Given the description of an element on the screen output the (x, y) to click on. 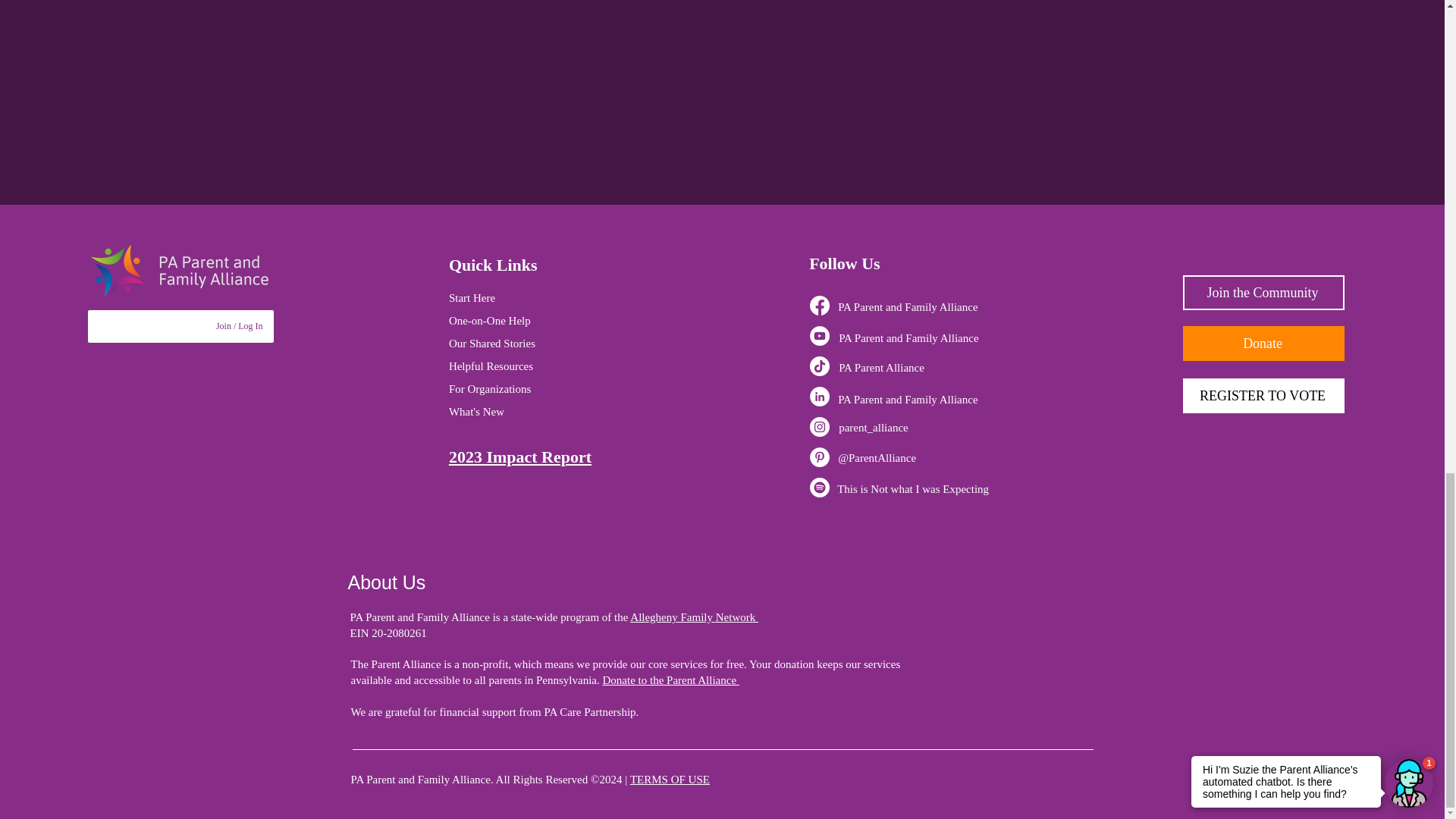
PA Parent and Family Alliance (908, 337)
Start Here (471, 297)
Join the Community (1262, 292)
Our Shared Stories (491, 343)
Helpful Resources (490, 366)
PA Parent Alliance (881, 367)
PA Parent and Family Alliance (907, 399)
2023 Impact Report (519, 456)
REGISTER TO VOTE (1262, 395)
Donate (1262, 343)
PA Parent and Family Alliance (907, 306)
For Organizations (489, 388)
One-on-One Help (489, 320)
What's New (475, 411)
This is Not what I was Expecting (912, 489)
